Given the description of an element on the screen output the (x, y) to click on. 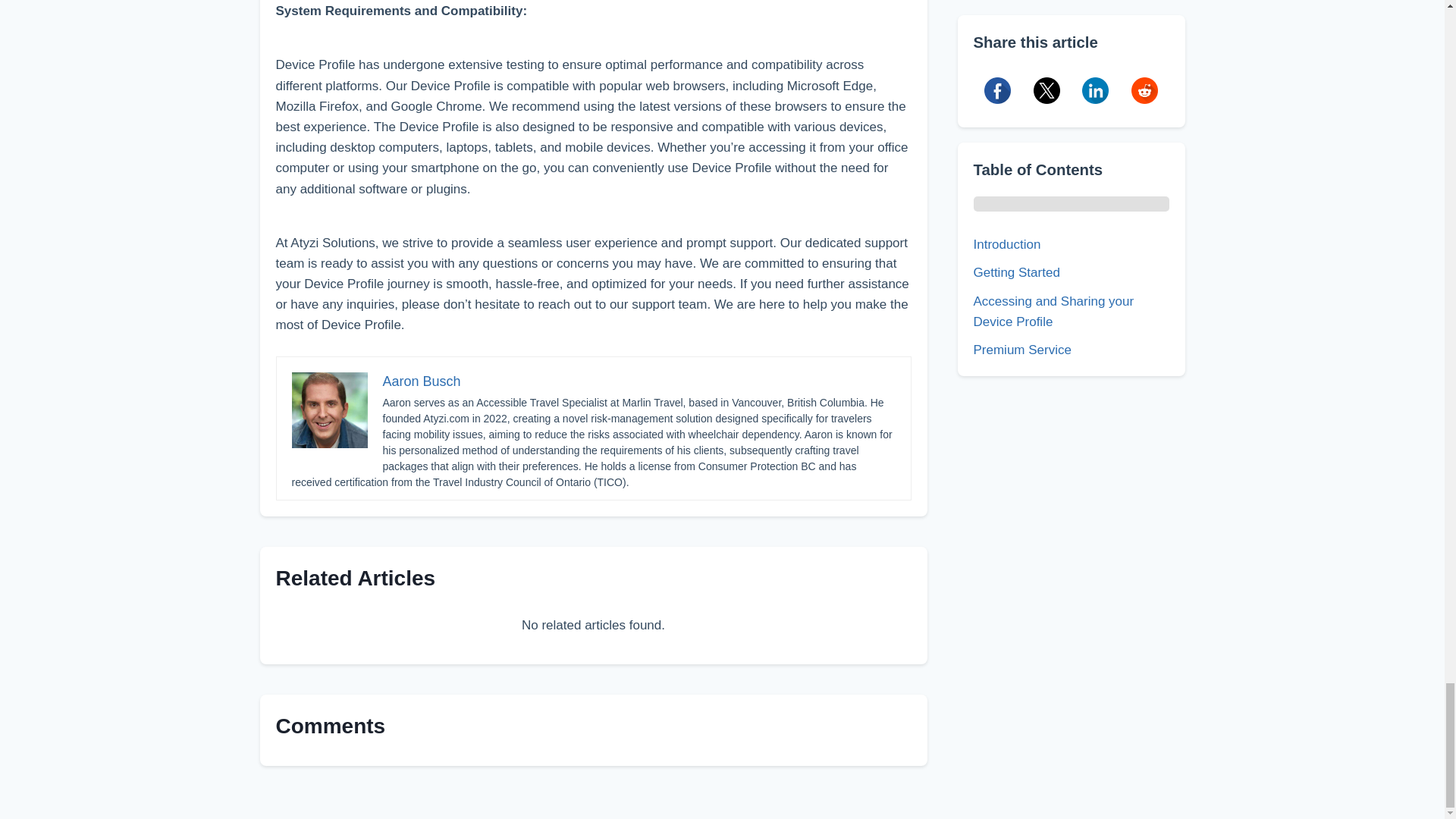
Aaron Busch (420, 381)
